Given the description of an element on the screen output the (x, y) to click on. 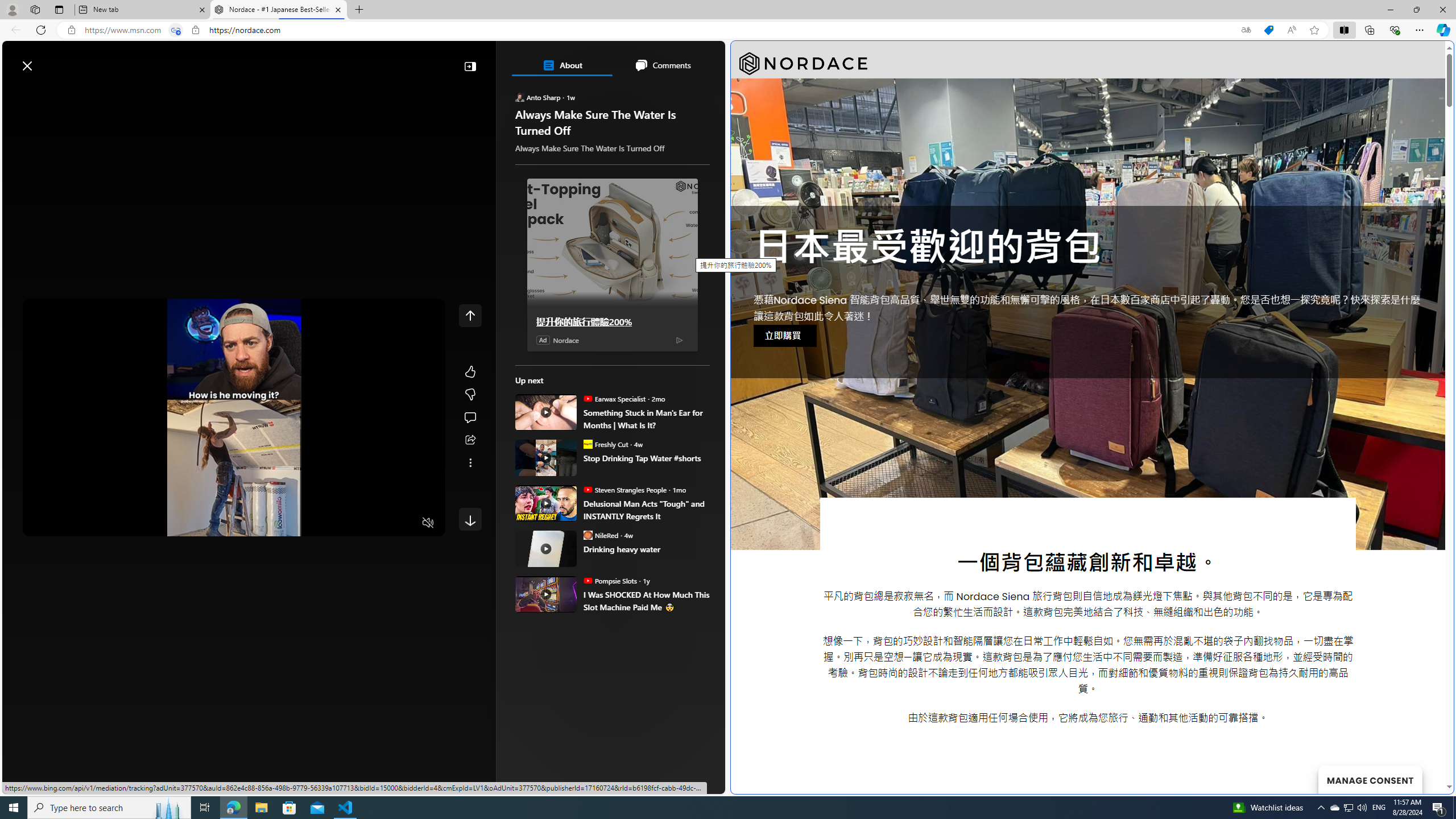
Enter your search term (366, 59)
Tabs in split screen (175, 29)
Skip to content (49, 59)
Something Stuck in Man's Ear for Months | What Is It? (646, 418)
Open settings (699, 60)
Web search (161, 60)
Seek Back (62, 523)
This site has coupons! Shopping in Microsoft Edge (1268, 29)
Drinking heavy water (545, 547)
